Given the description of an element on the screen output the (x, y) to click on. 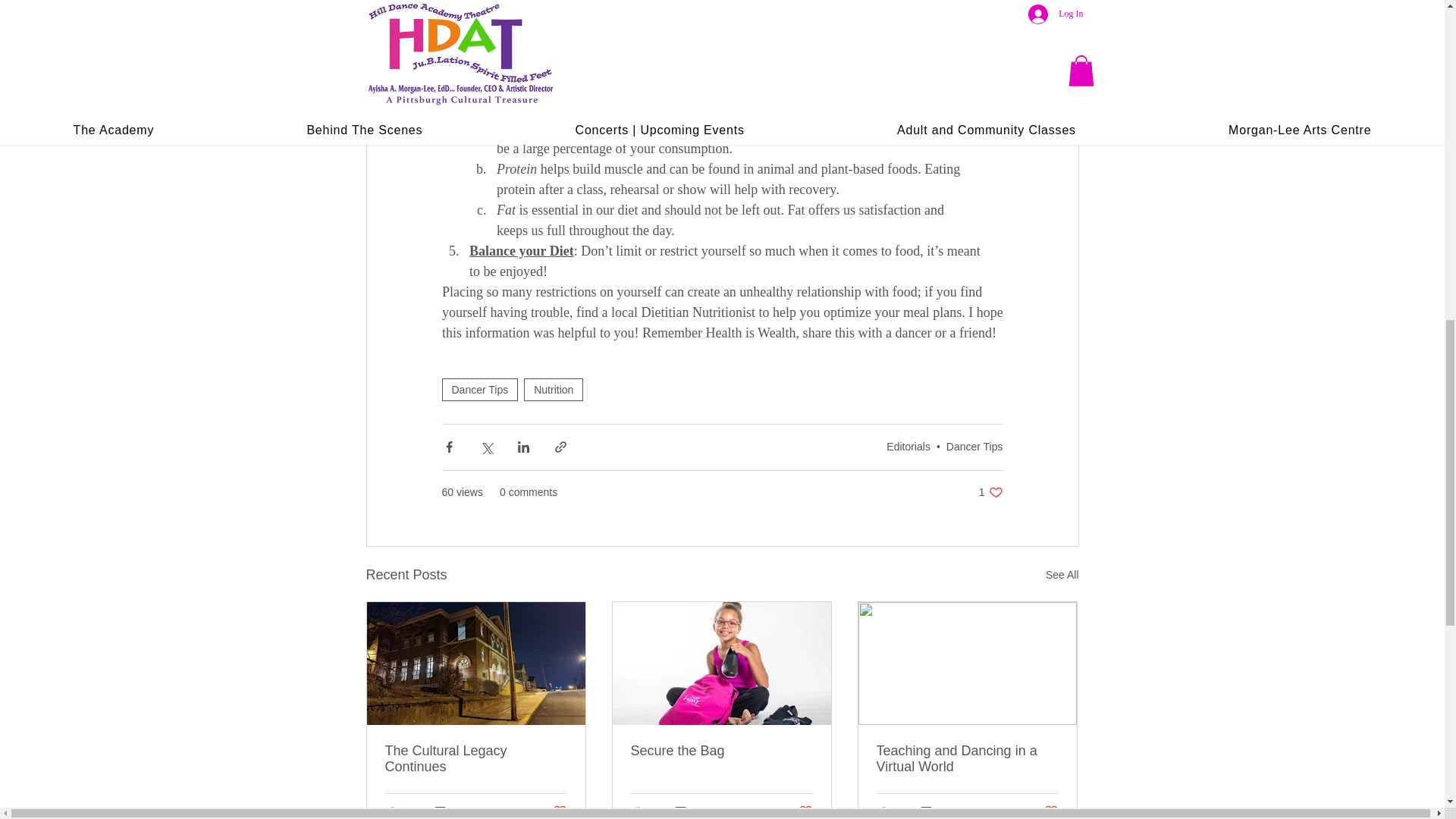
See All (1061, 575)
Dancer Tips (990, 492)
The Cultural Legacy Continues (974, 446)
Nutrition (476, 758)
Dancer Tips (553, 389)
Editorials (479, 389)
0 (908, 446)
